Given the description of an element on the screen output the (x, y) to click on. 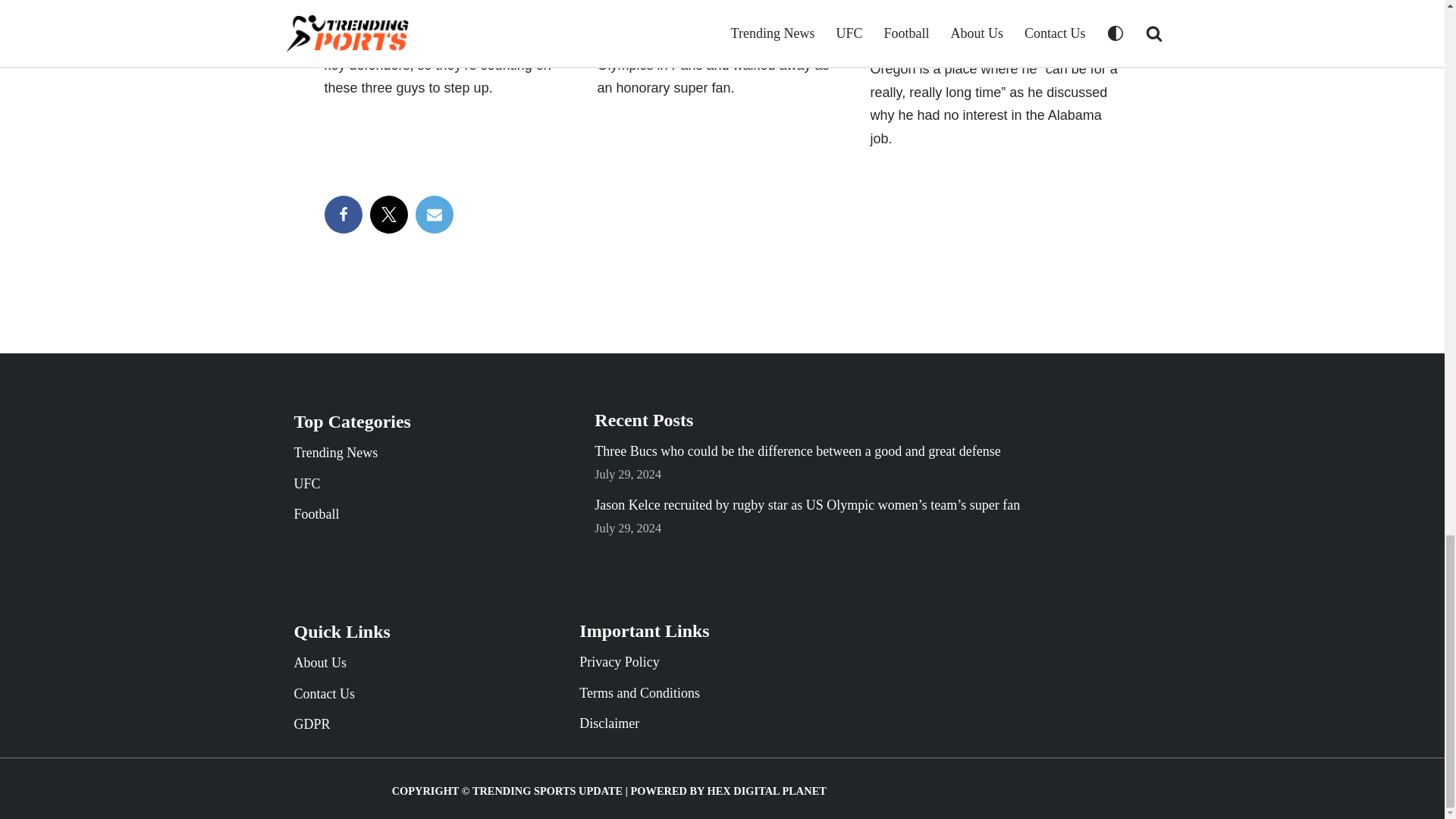
Email (433, 214)
Facebook (343, 214)
Trending News (336, 452)
X (388, 214)
